Given the description of an element on the screen output the (x, y) to click on. 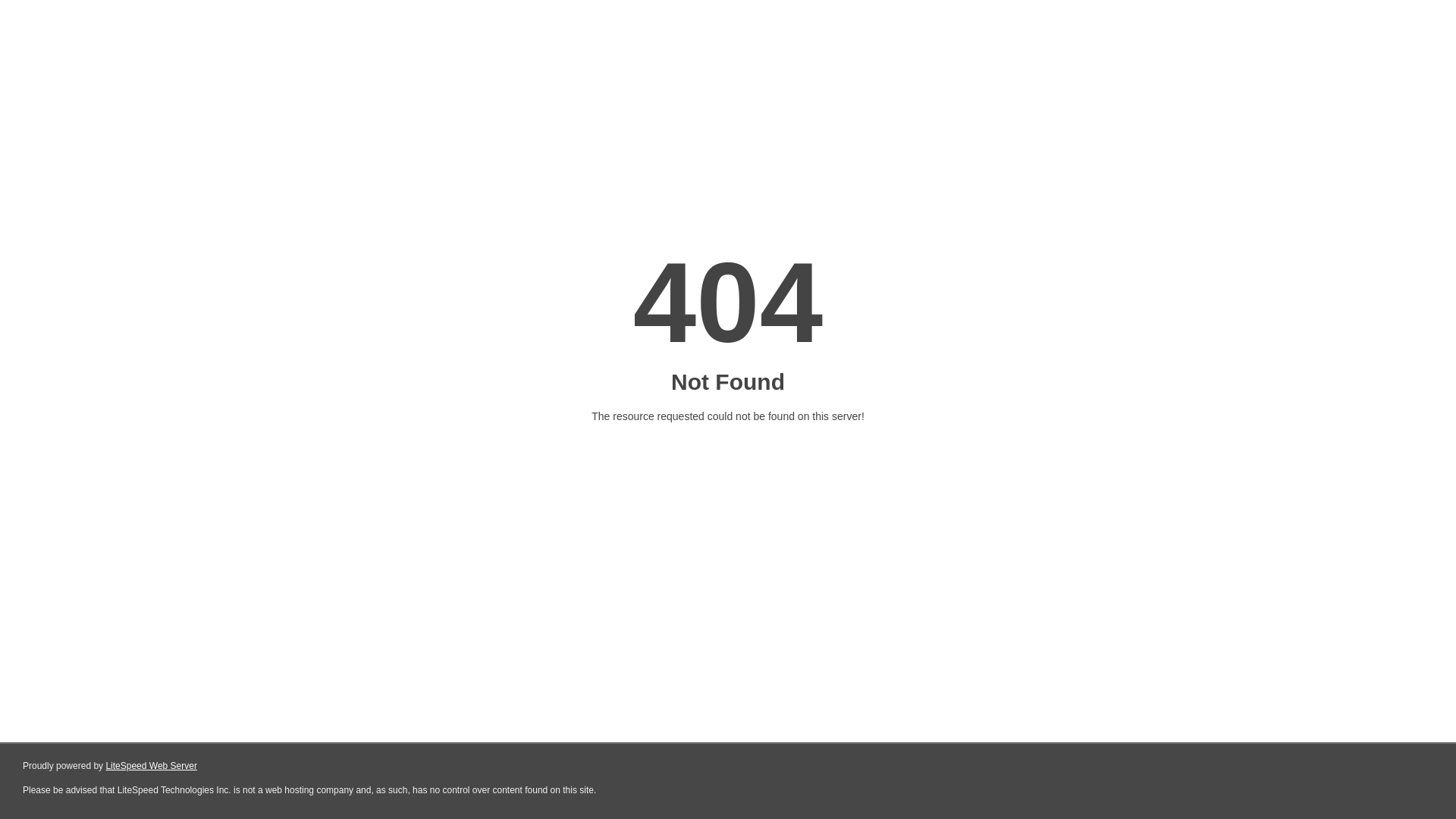
LiteSpeed Web Server Element type: text (151, 765)
